Given the description of an element on the screen output the (x, y) to click on. 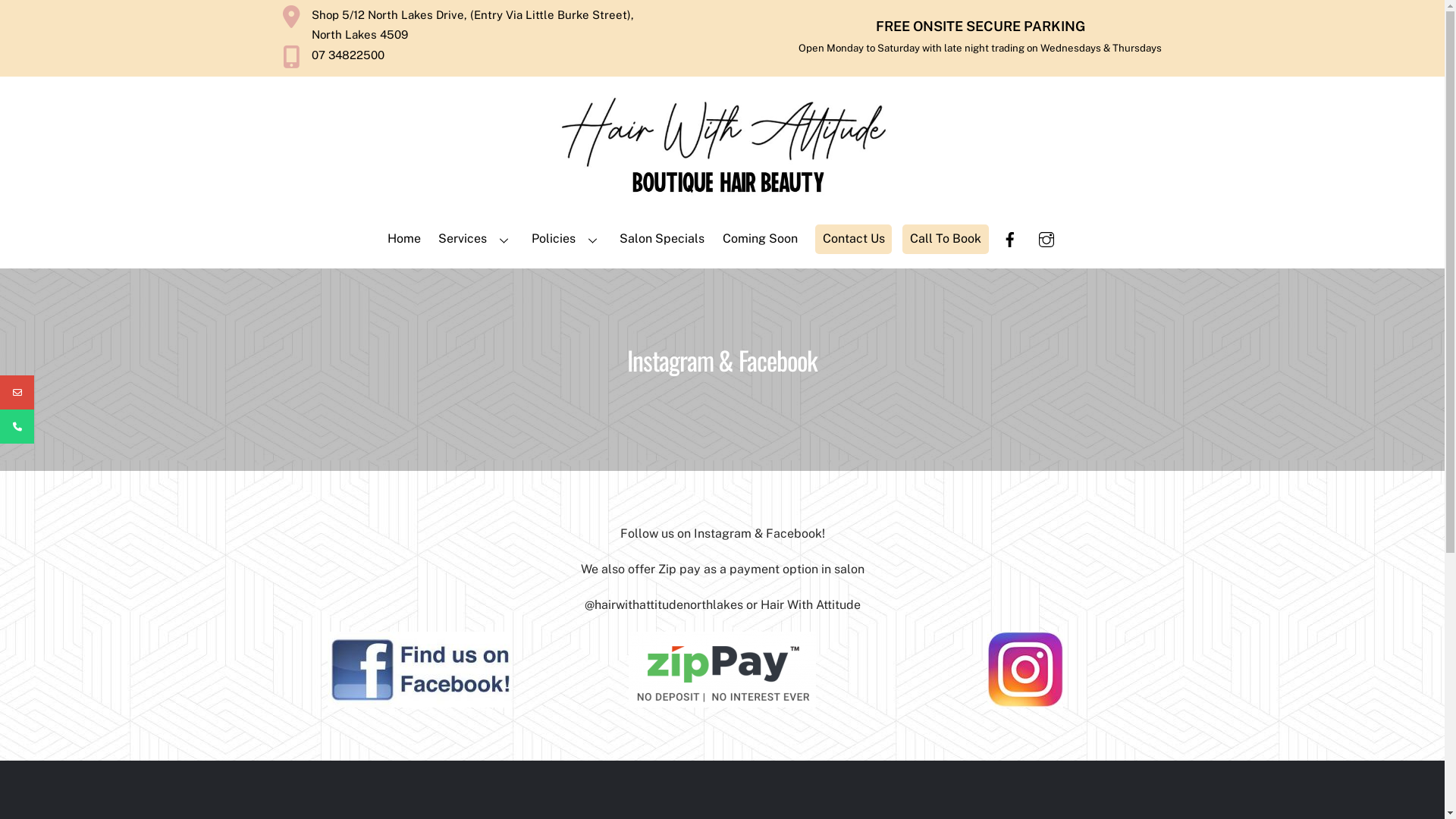
Call To Book Element type: text (945, 238)
07 34822500 Element type: text (473, 56)
Policies Element type: text (566, 239)
Home Element type: text (403, 239)
hello@hairwithattitude.com.au Element type: text (124, 392)
Hair With Attitude Element type: hover (722, 199)
Instagram & Facebook Element type: hover (1025, 669)
07 34 822 500 Element type: hover (17, 426)
Coming Soon Element type: text (759, 239)
Salon Specials Element type: text (662, 239)
Instagram & Facebook Element type: hover (721, 669)
Instagram & Facebook Element type: hover (419, 669)
Hair With Attitude Element type: hover (722, 147)
hello@hairwithattitude.com.au Element type: hover (17, 392)
Services Element type: text (476, 239)
07 34 822 500 Element type: text (86, 426)
Contact Us Element type: text (853, 238)
